Given the description of an element on the screen output the (x, y) to click on. 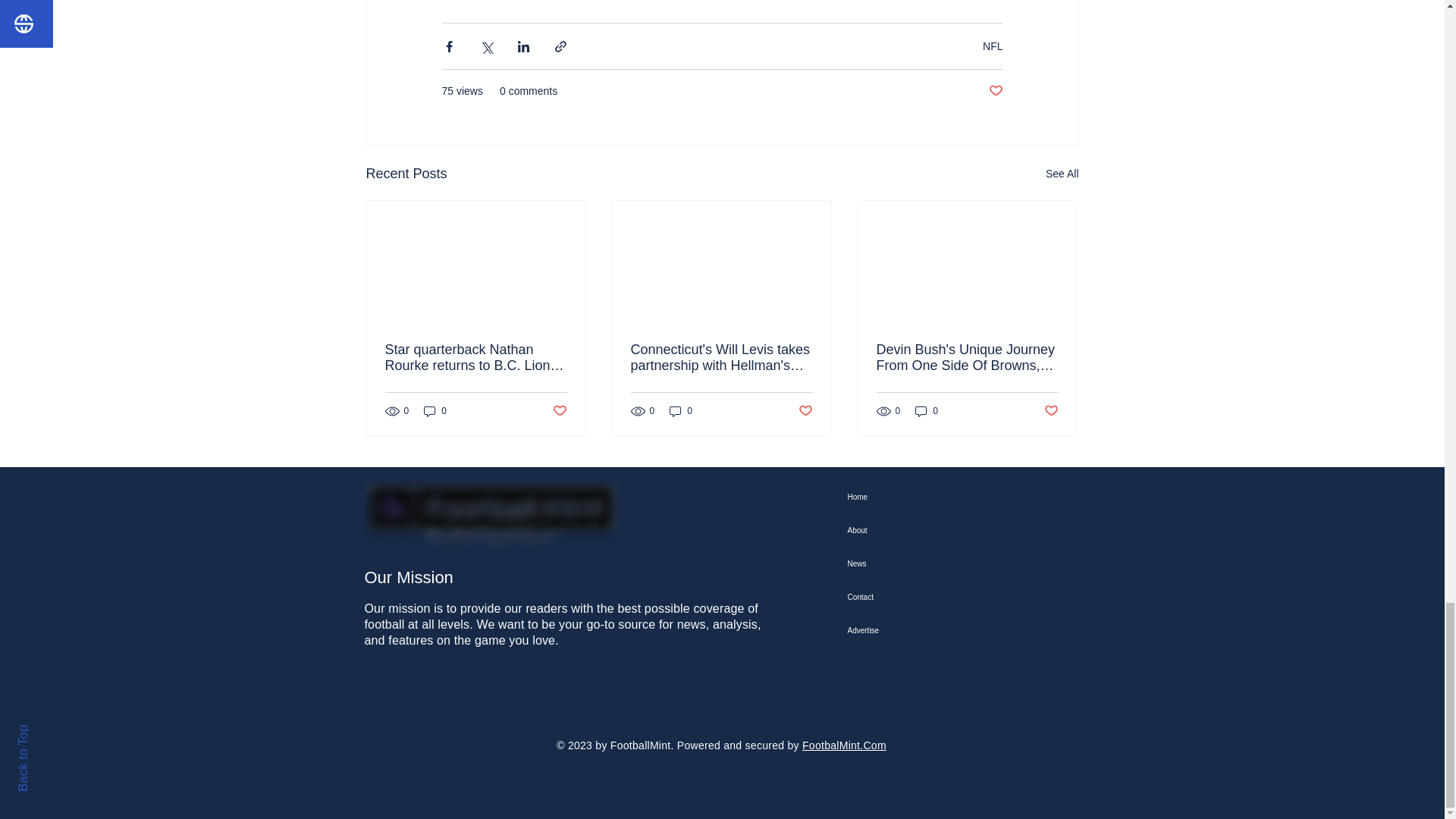
Post not marked as liked (558, 410)
Post not marked as liked (1050, 410)
0 (926, 411)
0 (435, 411)
NFL (992, 46)
0 (681, 411)
Post not marked as liked (995, 91)
Post not marked as liked (804, 410)
